Given the description of an element on the screen output the (x, y) to click on. 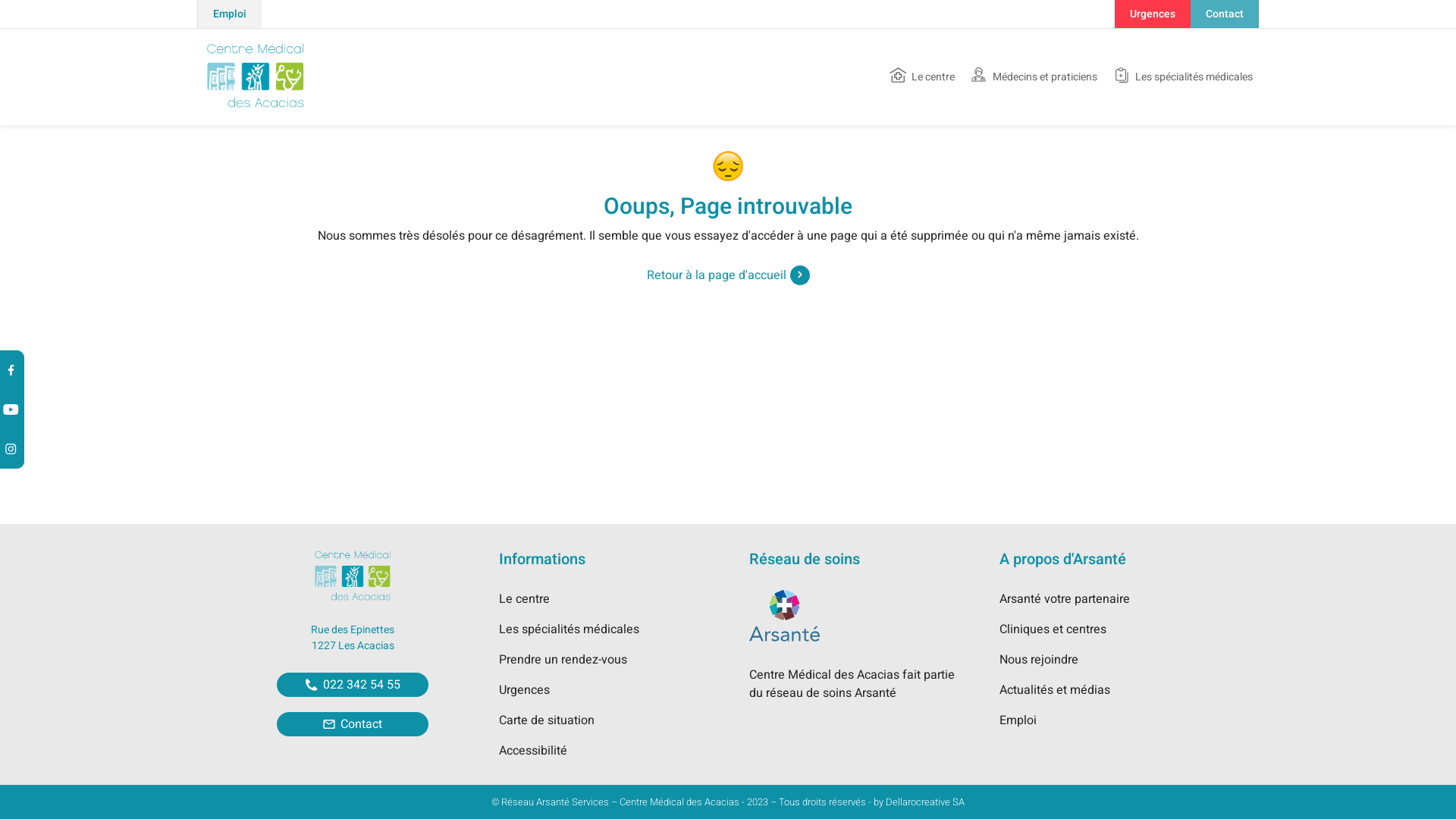
Le centre Element type: text (921, 76)
Contact Element type: text (352, 724)
Le centre Element type: text (523, 598)
Nous rejoindre Element type: text (1038, 659)
Cliniques et centres Element type: text (1052, 629)
Prendre un rendez-vous Element type: text (562, 659)
Contact Element type: text (1224, 14)
Urgences Element type: text (1152, 14)
022 342 54 55 Element type: text (352, 684)
Urgences Element type: text (523, 689)
Dellarocreative SA Element type: text (924, 801)
Carte de situation Element type: text (546, 720)
Emploi Element type: text (1017, 720)
Emploi Element type: text (229, 14)
